Given the description of an element on the screen output the (x, y) to click on. 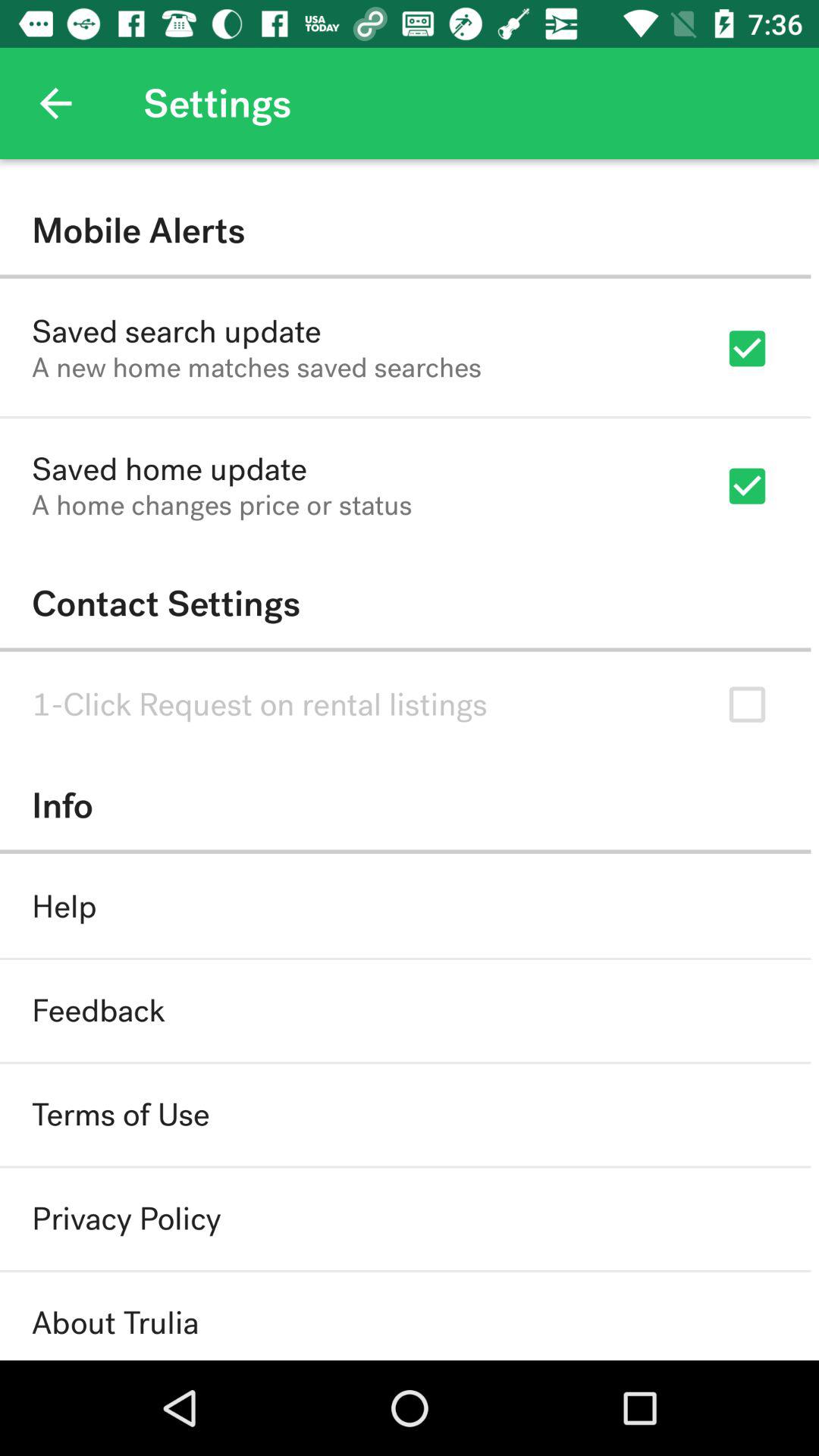
open the item above the about trulia icon (126, 1219)
